Given the description of an element on the screen output the (x, y) to click on. 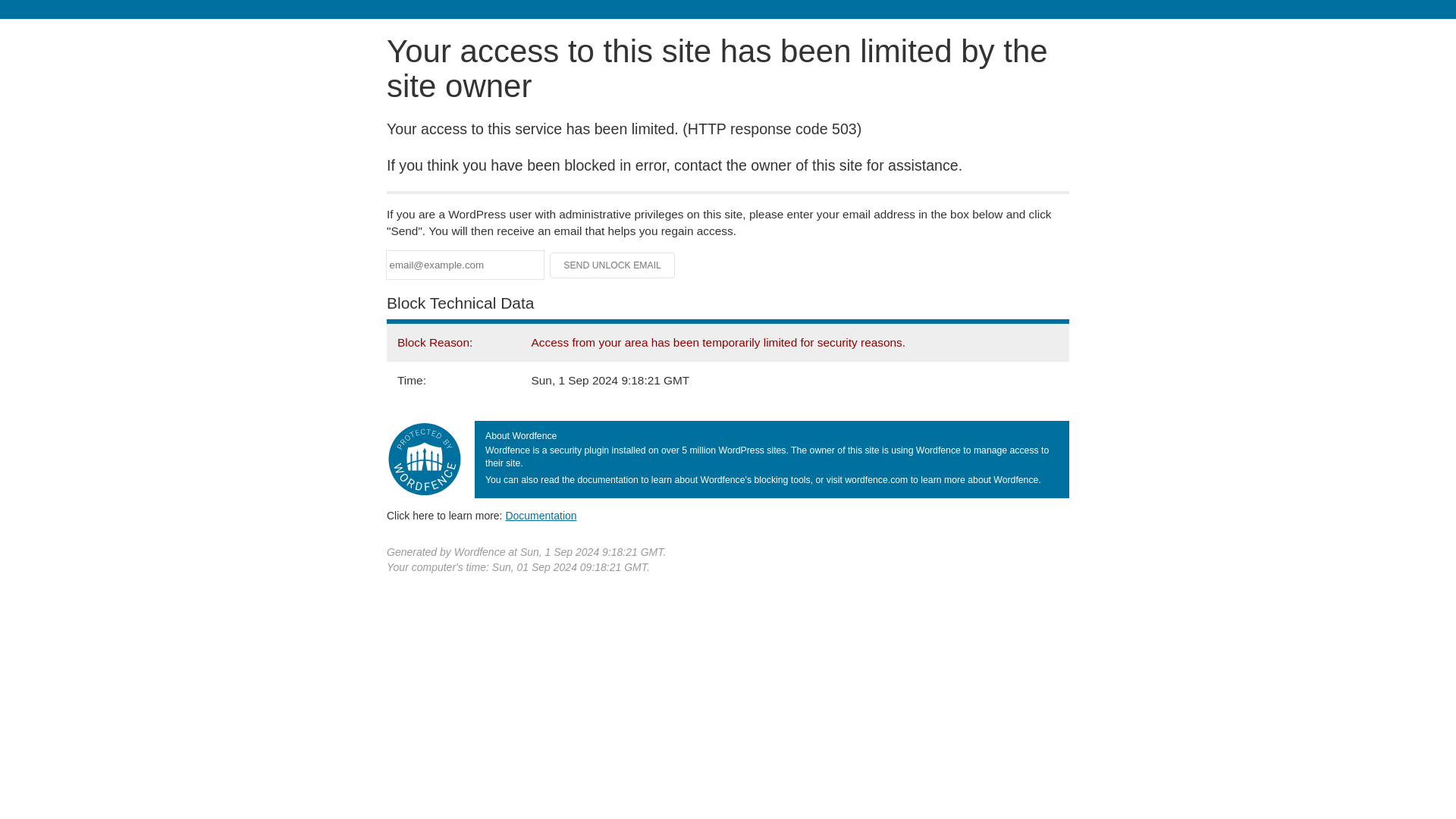
Send Unlock Email (612, 265)
Send Unlock Email (612, 265)
Documentation (540, 515)
